Given the description of an element on the screen output the (x, y) to click on. 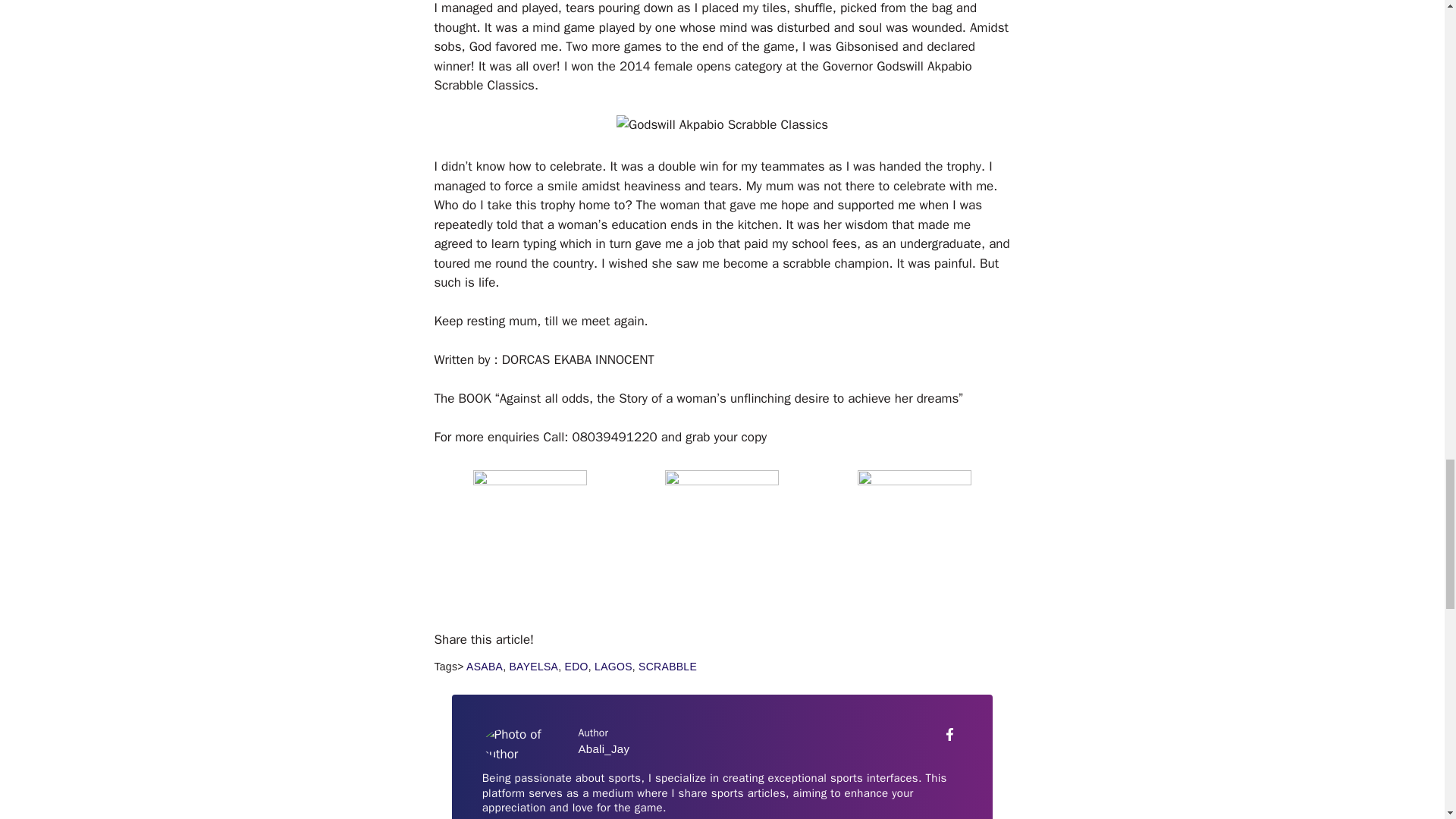
2014 GOV. GODSWILL AKPABIO SCRABBLE (721, 125)
